Given the description of an element on the screen output the (x, y) to click on. 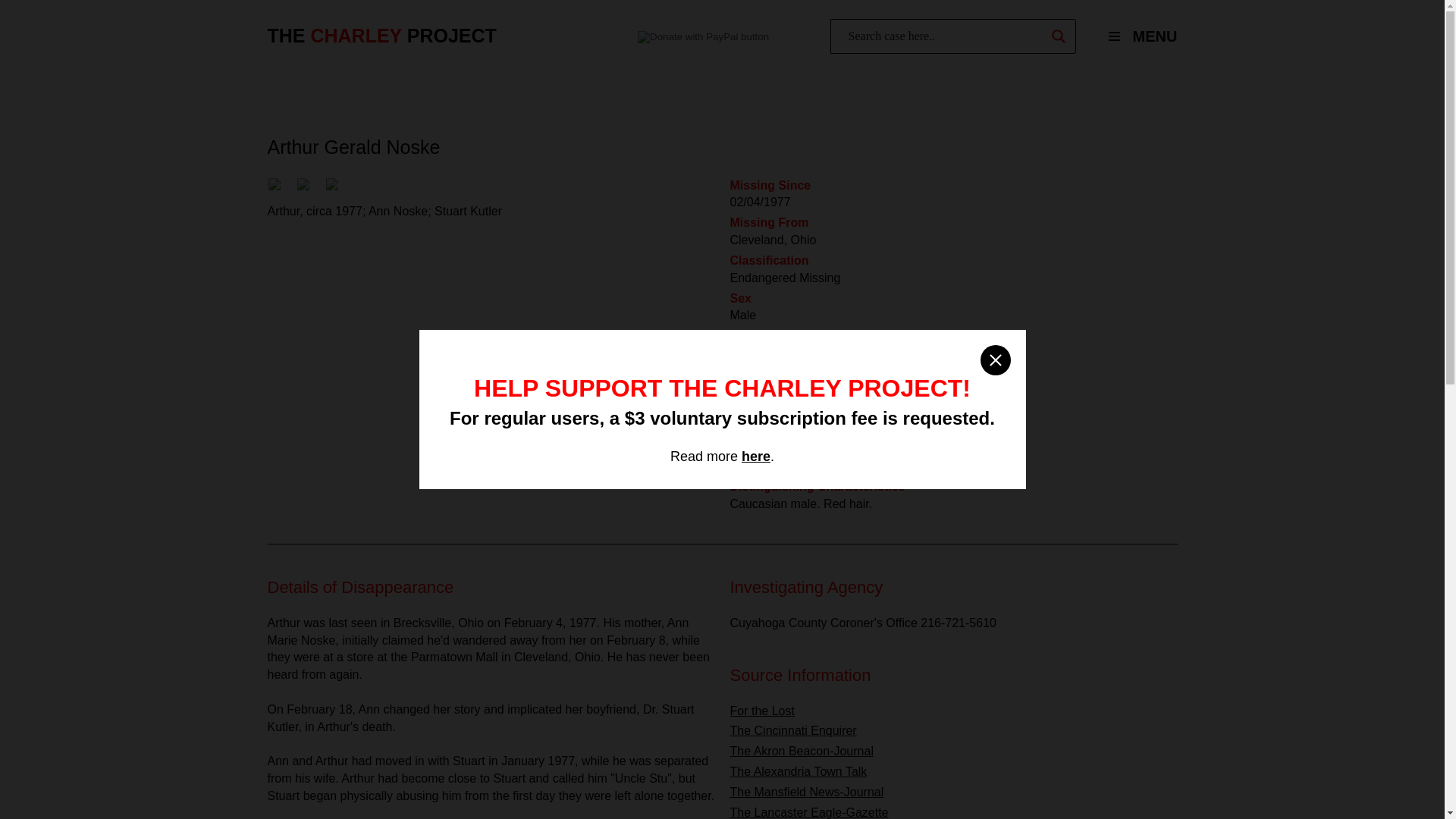
MENU (1135, 36)
For the Lost (761, 710)
The Mansfield News-Journal (806, 791)
The Akron Beacon-Journal (800, 750)
The Lancaster Eagle-Gazette (808, 812)
THE CHARLEY PROJECT (381, 35)
The Alexandria Town Talk (797, 771)
The Cincinnati Enquirer (792, 730)
